Given the description of an element on the screen output the (x, y) to click on. 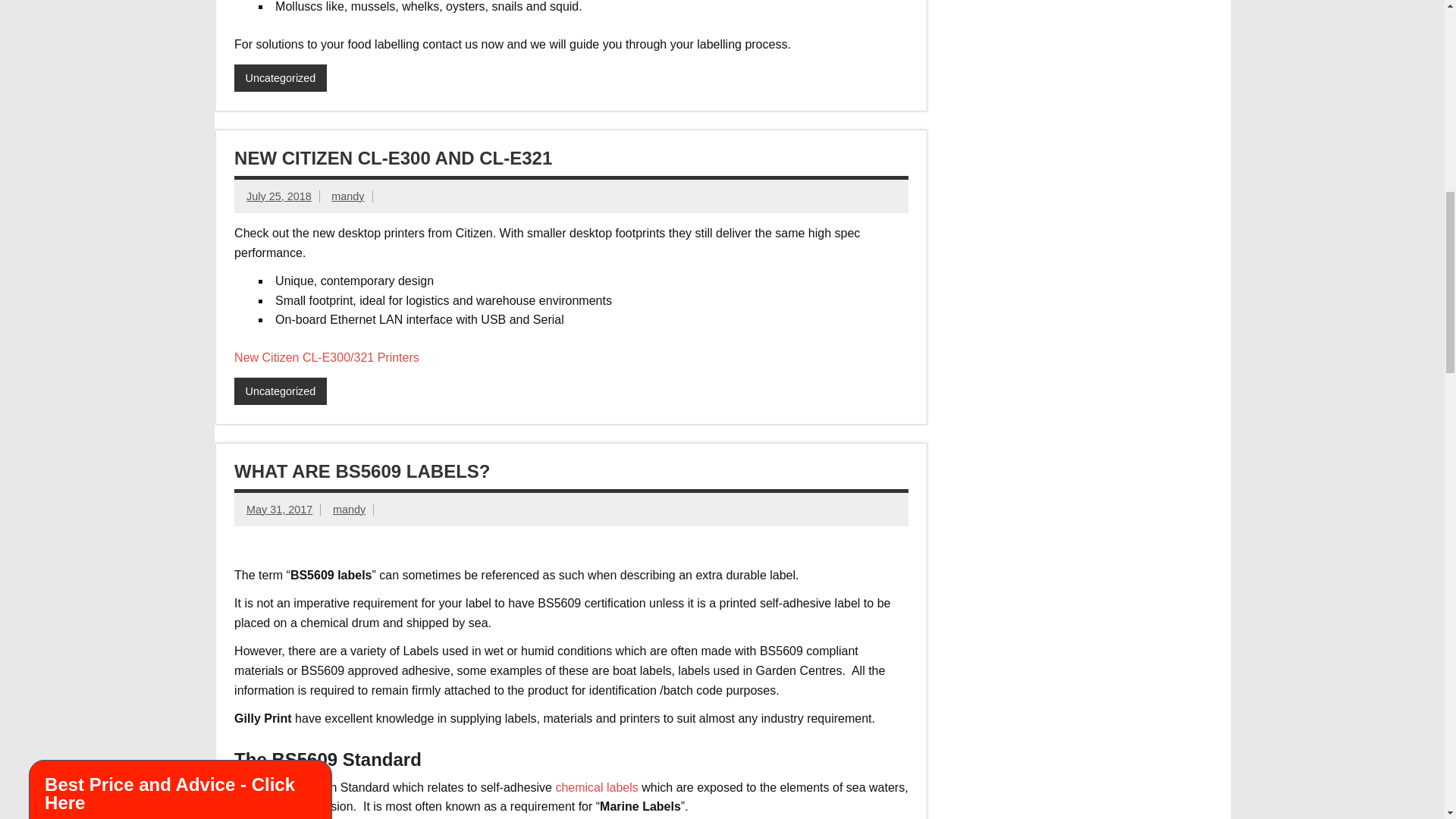
4:44 pm (278, 196)
View all posts by mandy (349, 509)
View all posts by mandy (347, 196)
8:57 am (279, 509)
